Given the description of an element on the screen output the (x, y) to click on. 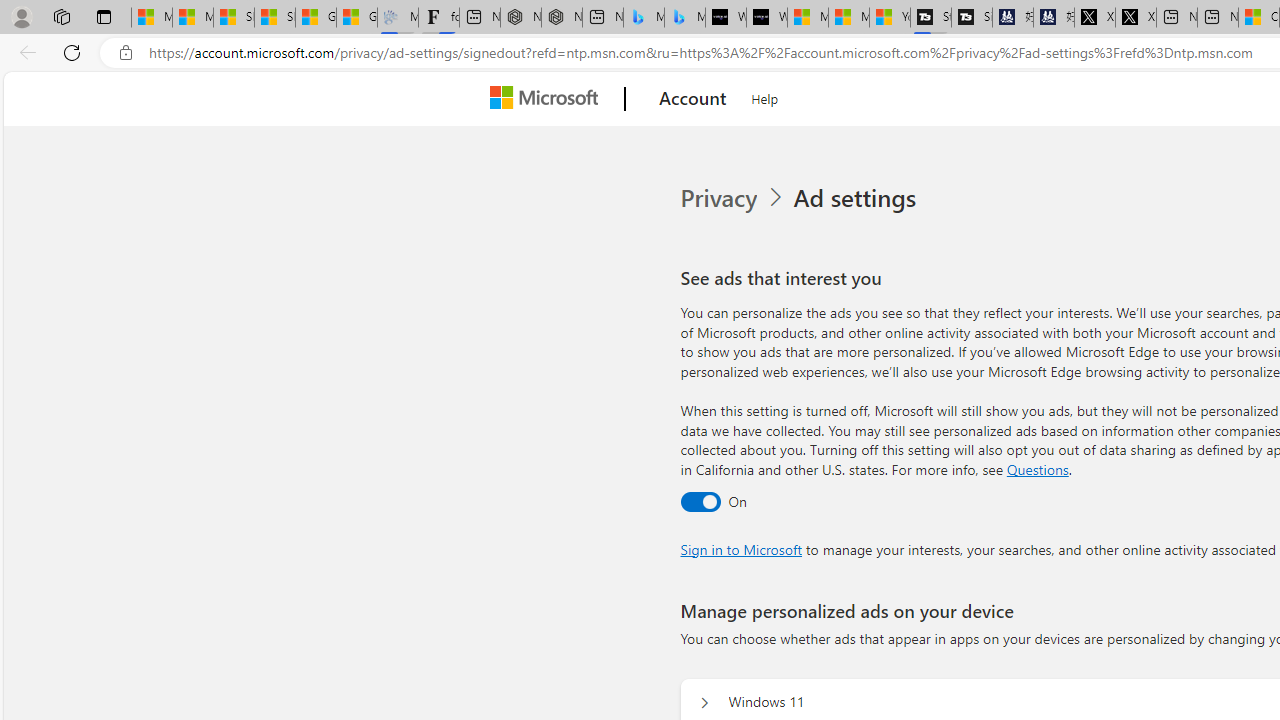
Microsoft (548, 99)
Privacy (734, 197)
Ad settings toggle (699, 501)
Streaming Coverage | T3 (931, 17)
Sign in to Microsoft (740, 548)
Manage personalized ads on your device Windows 11 (704, 702)
Go to Questions section (1037, 468)
Ad settings (858, 197)
